Given the description of an element on the screen output the (x, y) to click on. 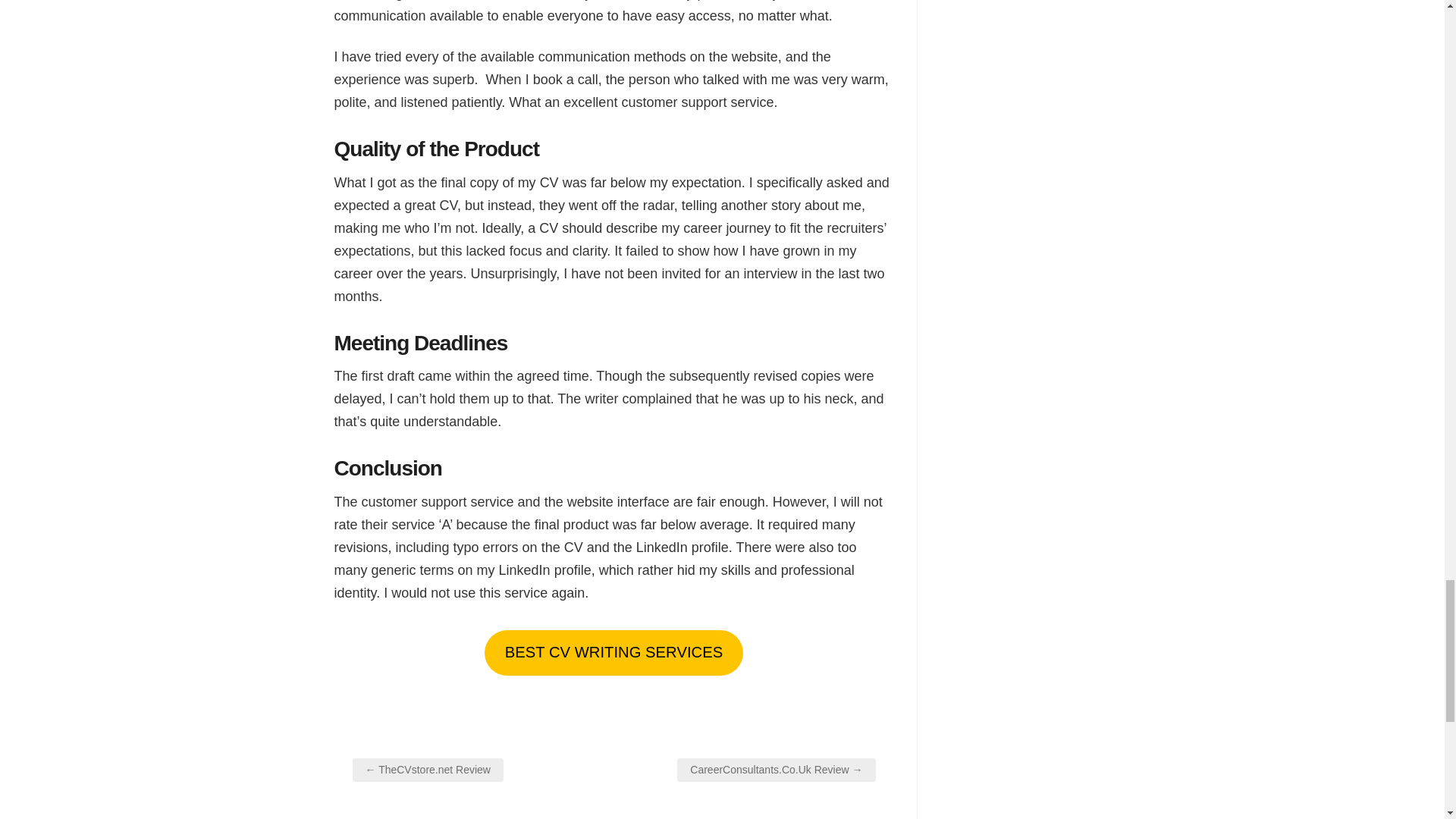
BEST CV WRITING SERVICES (613, 652)
